Given the description of an element on the screen output the (x, y) to click on. 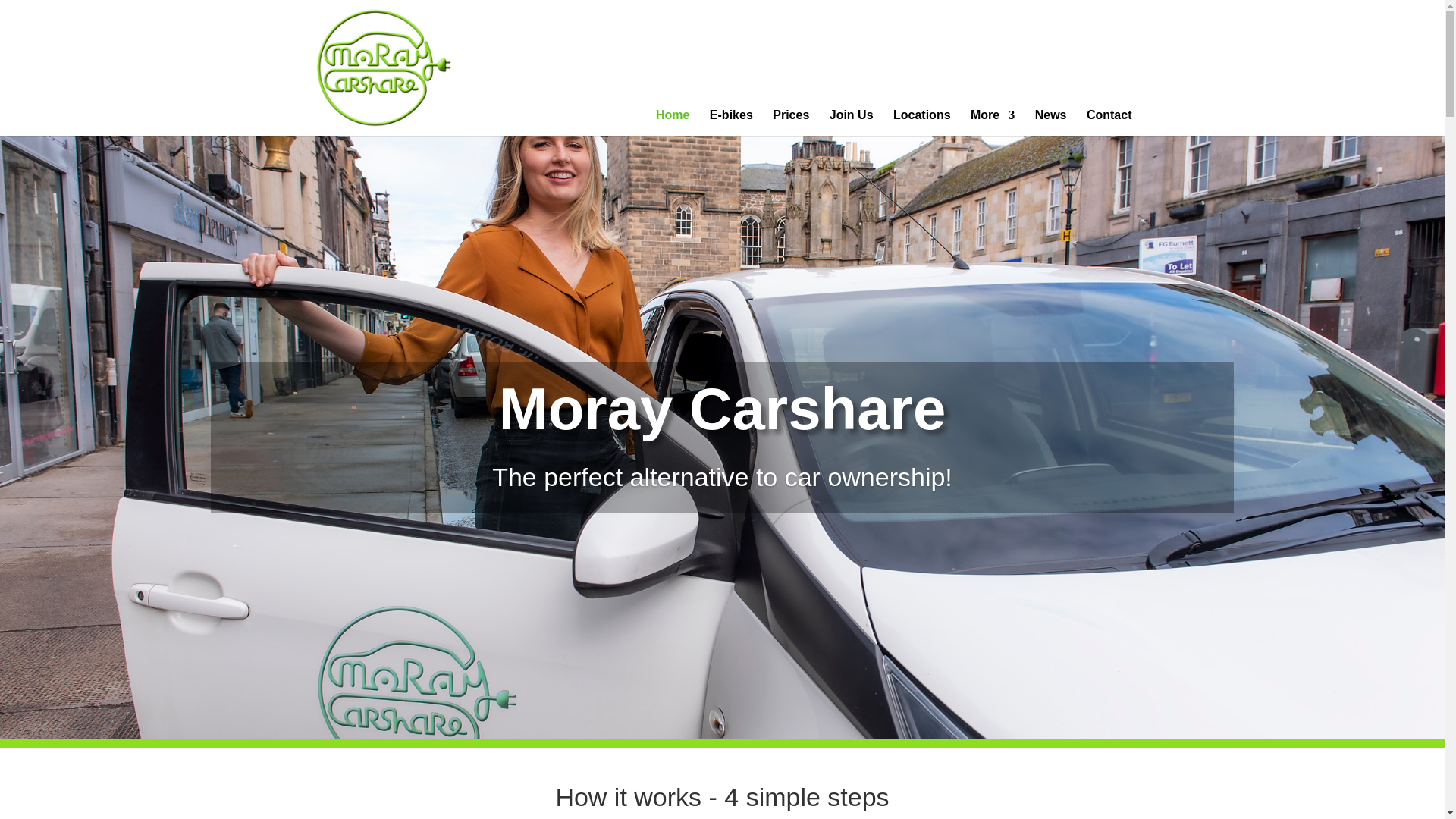
Join Us (851, 122)
Locations (921, 122)
Prices (791, 122)
Contact (1109, 122)
News (1051, 122)
E-bikes (731, 122)
More (992, 122)
Home (672, 122)
